Given the description of an element on the screen output the (x, y) to click on. 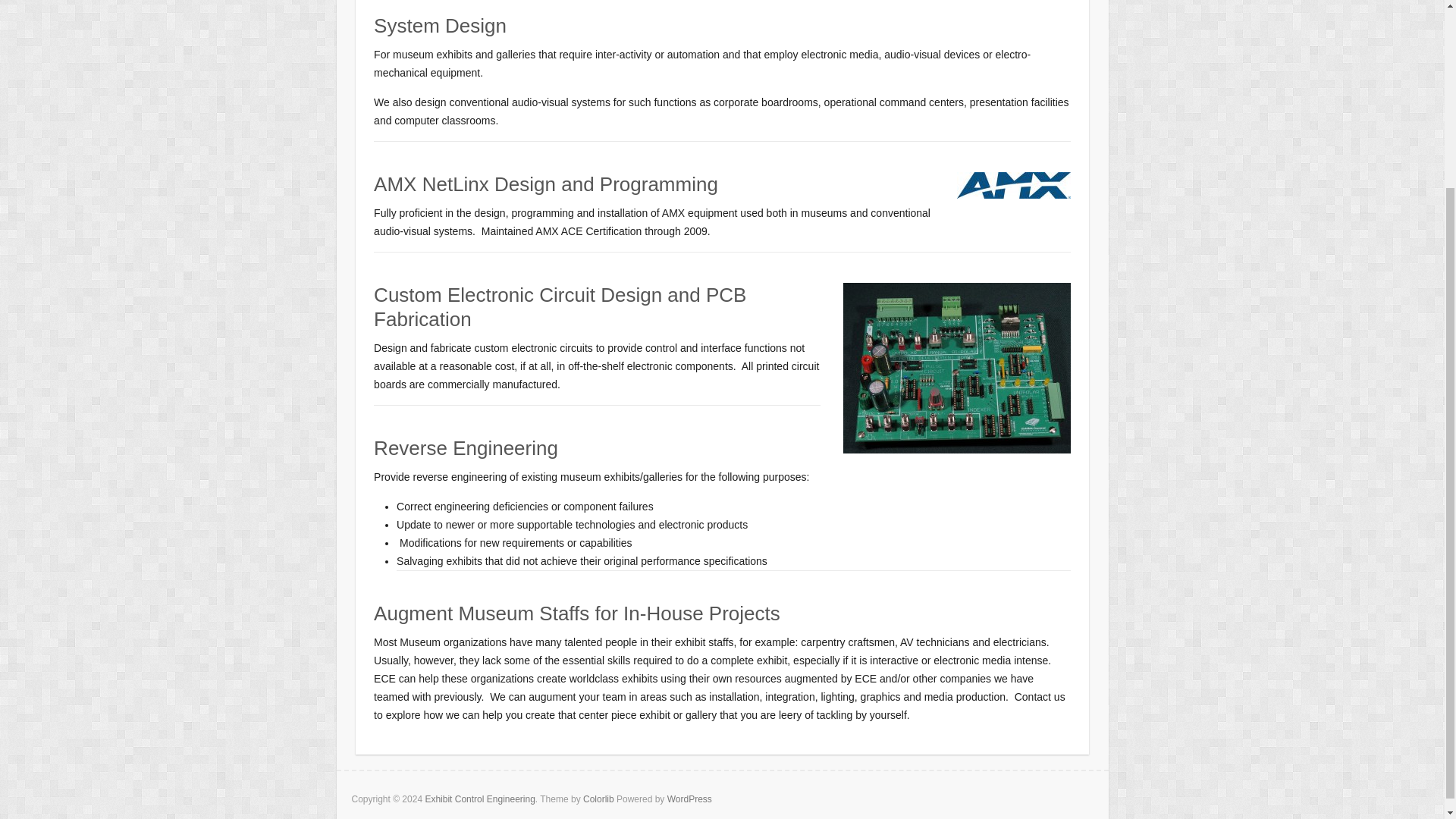
Exhibit Control Engineering (479, 798)
WordPress (688, 798)
WordPress (688, 798)
Exhibit Control Engineering (479, 798)
Colorlib (598, 798)
Colorlib (598, 798)
